Given the description of an element on the screen output the (x, y) to click on. 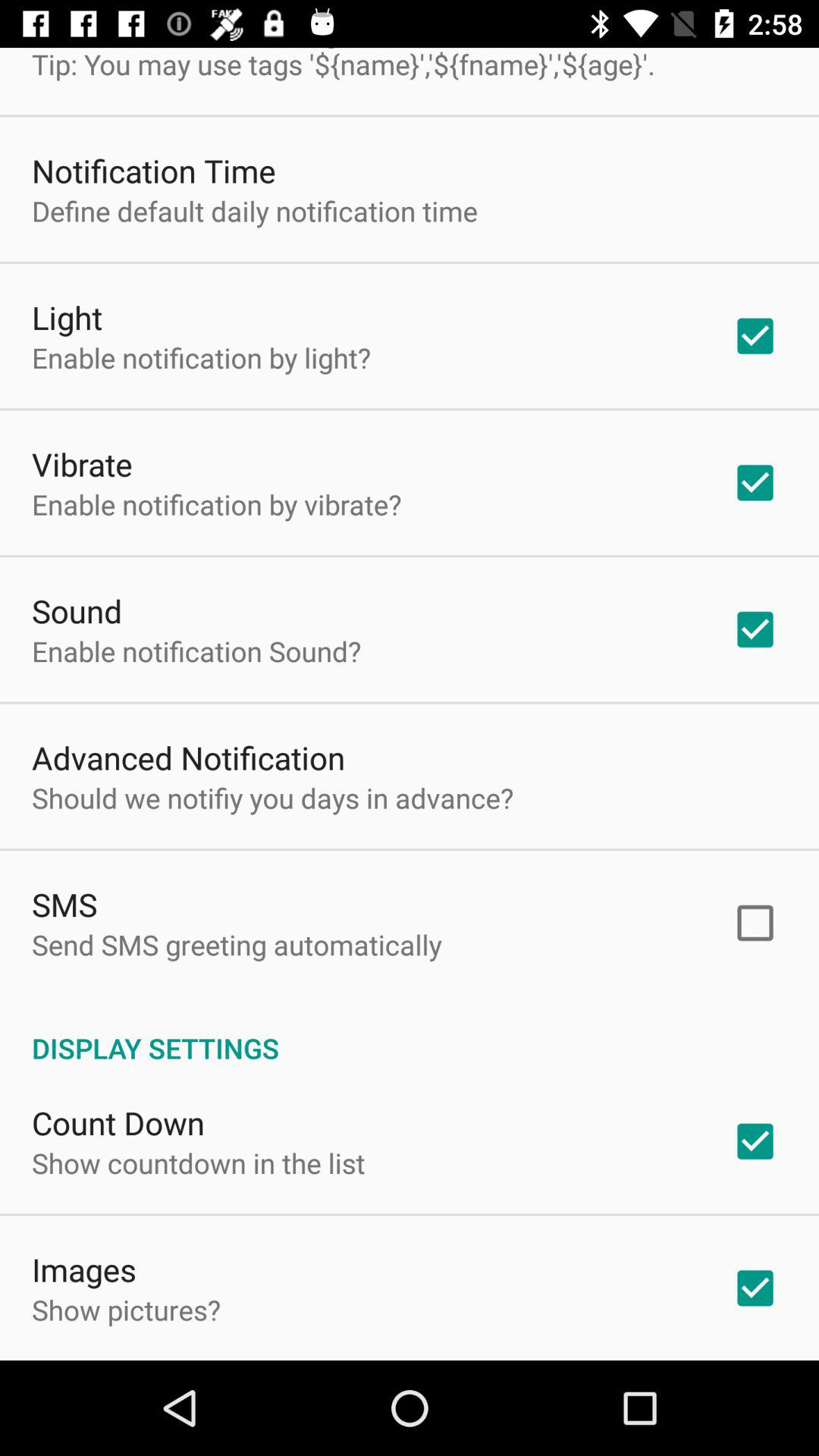
choose show pictures? app (125, 1309)
